Given the description of an element on the screen output the (x, y) to click on. 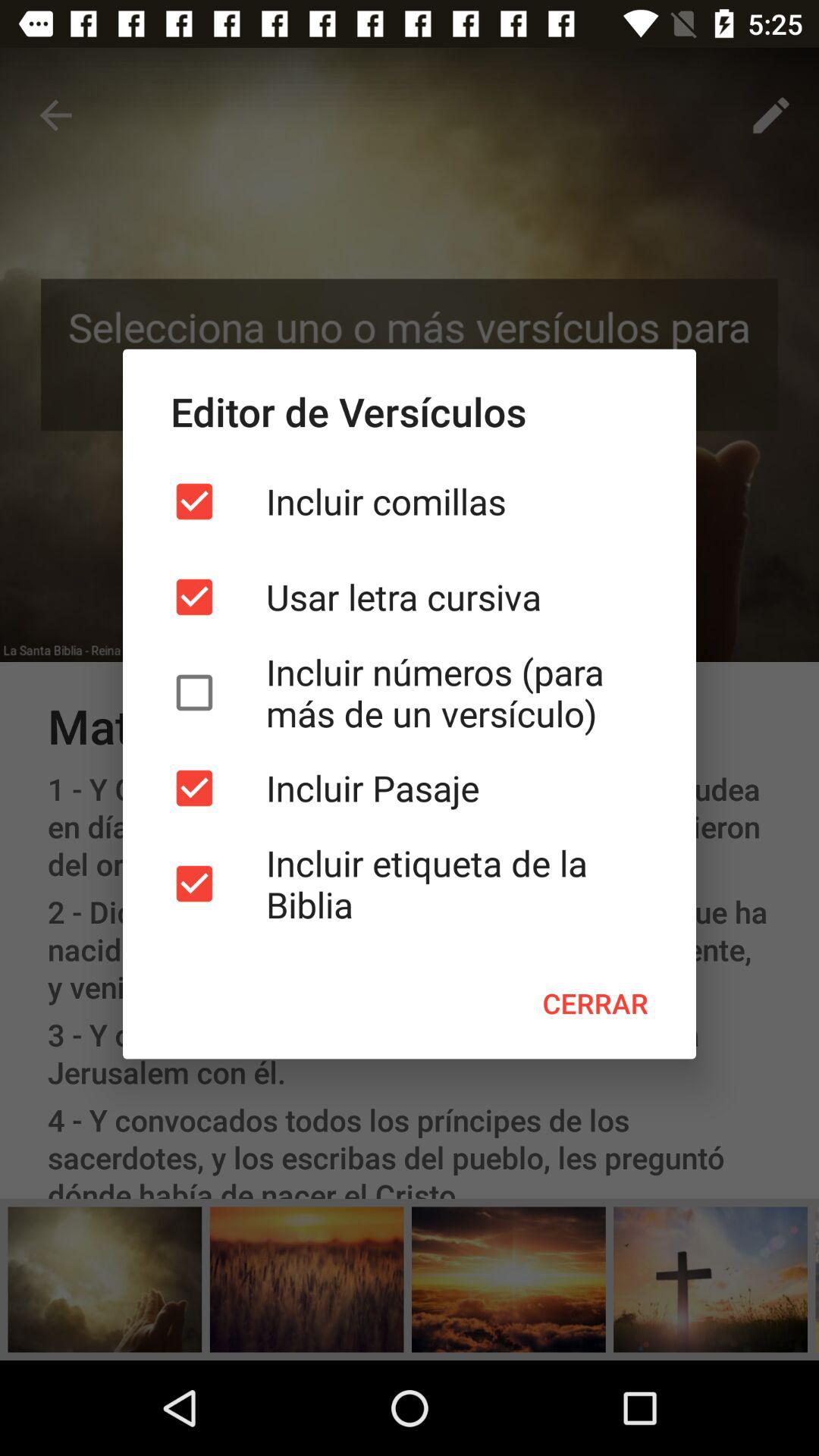
open incluir pasaje item (409, 788)
